Given the description of an element on the screen output the (x, y) to click on. 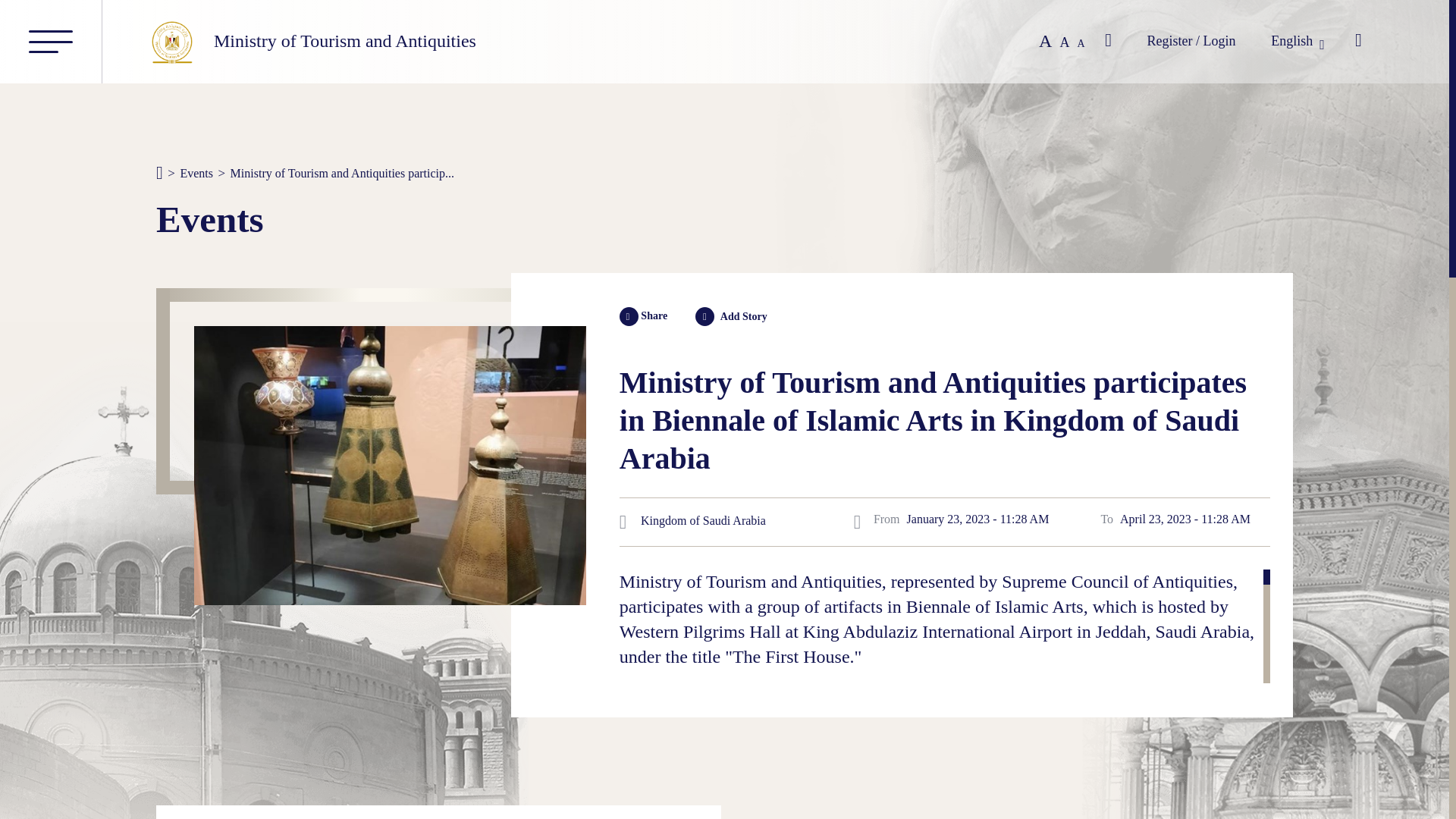
Font Resize (1053, 41)
Share (629, 316)
English (1295, 40)
Ministry of Tourism and Antiquities (310, 41)
